Given the description of an element on the screen output the (x, y) to click on. 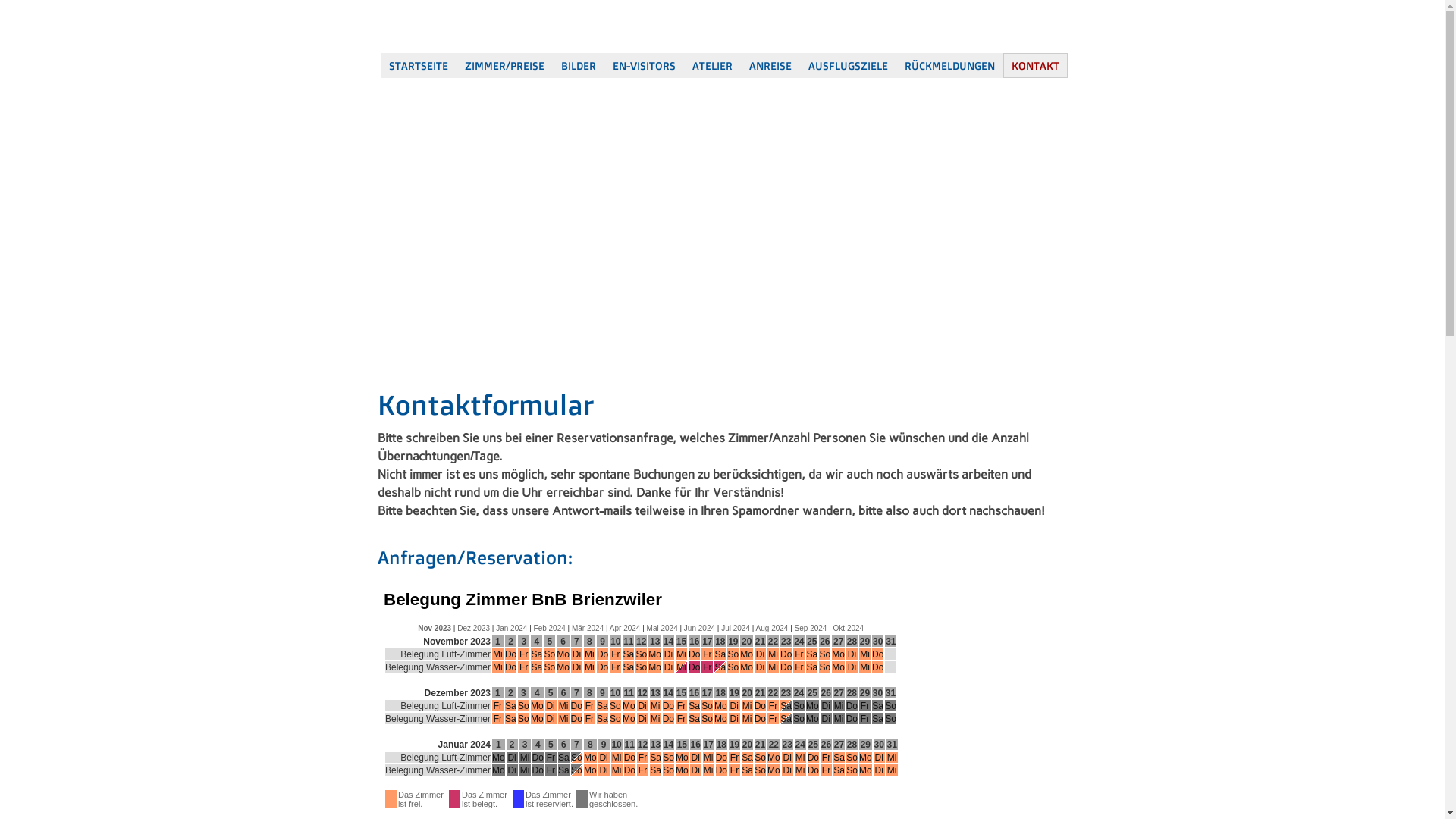
AUSFLUGSZIELE Element type: text (847, 65)
STARTSEITE Element type: text (418, 65)
ZIMMER/PREISE Element type: text (504, 65)
BILDER Element type: text (577, 65)
KONTAKT Element type: text (1034, 65)
EN-VISITORS Element type: text (643, 65)
ATELIER Element type: text (712, 65)
ANREISE Element type: text (769, 65)
